Given the description of an element on the screen output the (x, y) to click on. 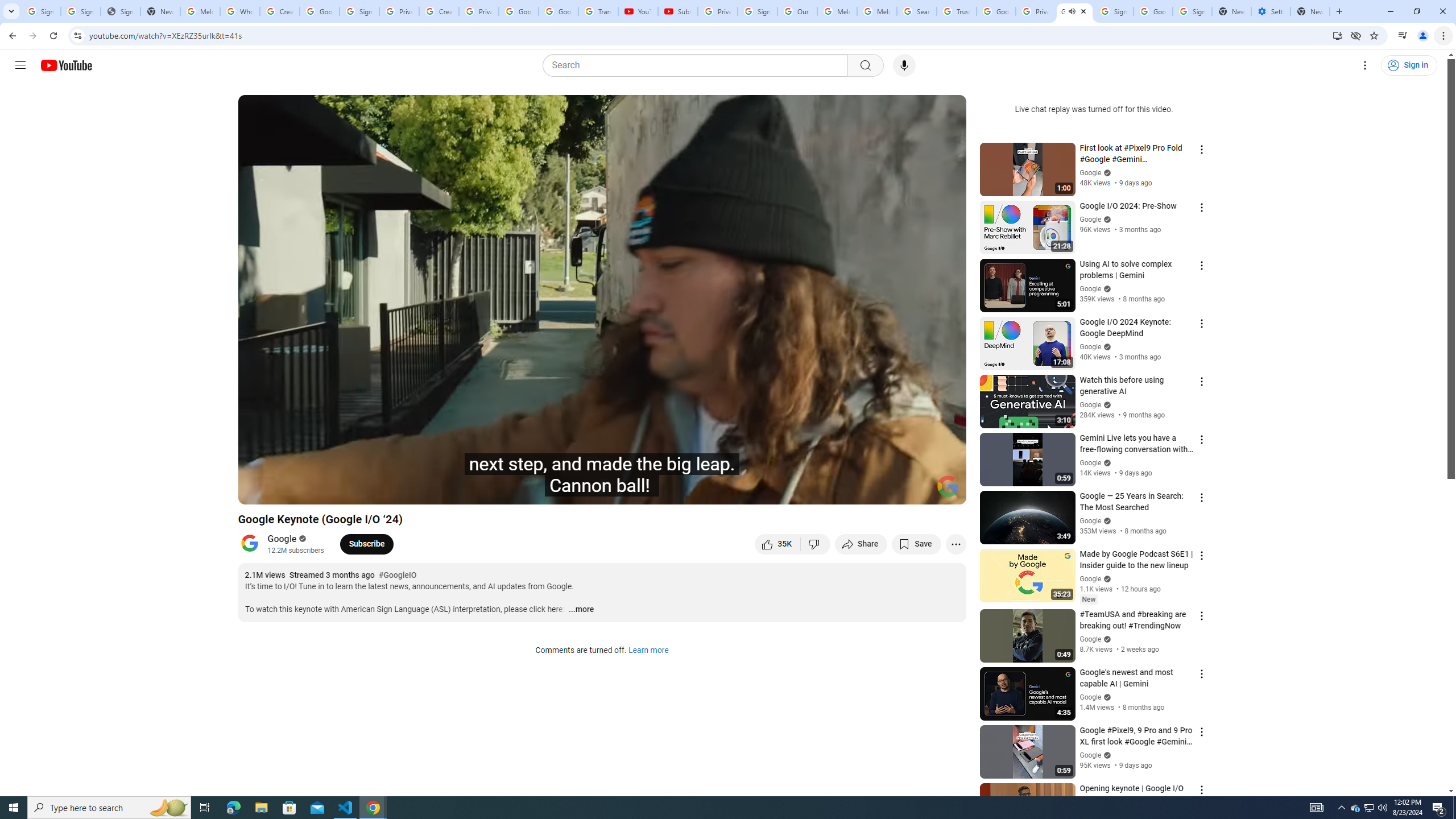
Create your Google Account (279, 11)
Channel watermark (947, 486)
Settings - Addresses and more (1270, 11)
More actions (955, 543)
New (1087, 599)
Google Cybersecurity Innovations - Google Safety Center (1152, 11)
Miniplayer (i) (890, 490)
Sign in - Google Accounts (359, 11)
Full screen (f) (945, 490)
